Given the description of an element on the screen output the (x, y) to click on. 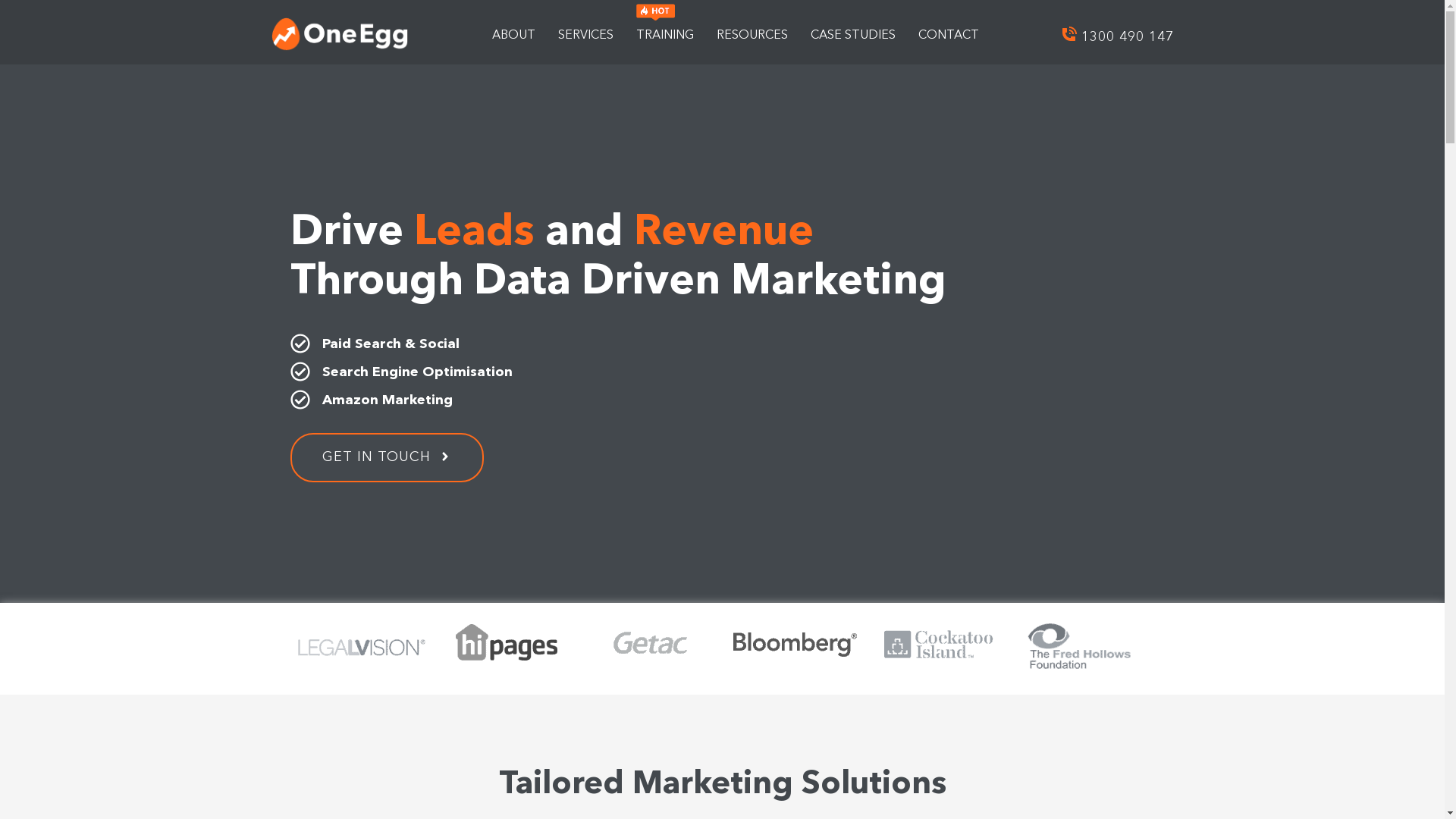
CASE STUDIES Element type: text (852, 34)
ABOUT Element type: text (513, 34)
SERVICES Element type: text (585, 34)
TRAINING Element type: text (664, 34)
GET IN TOUCH Element type: text (386, 456)
CONTACT Element type: text (948, 34)
RESOURCES Element type: text (752, 34)
